Given the description of an element on the screen output the (x, y) to click on. 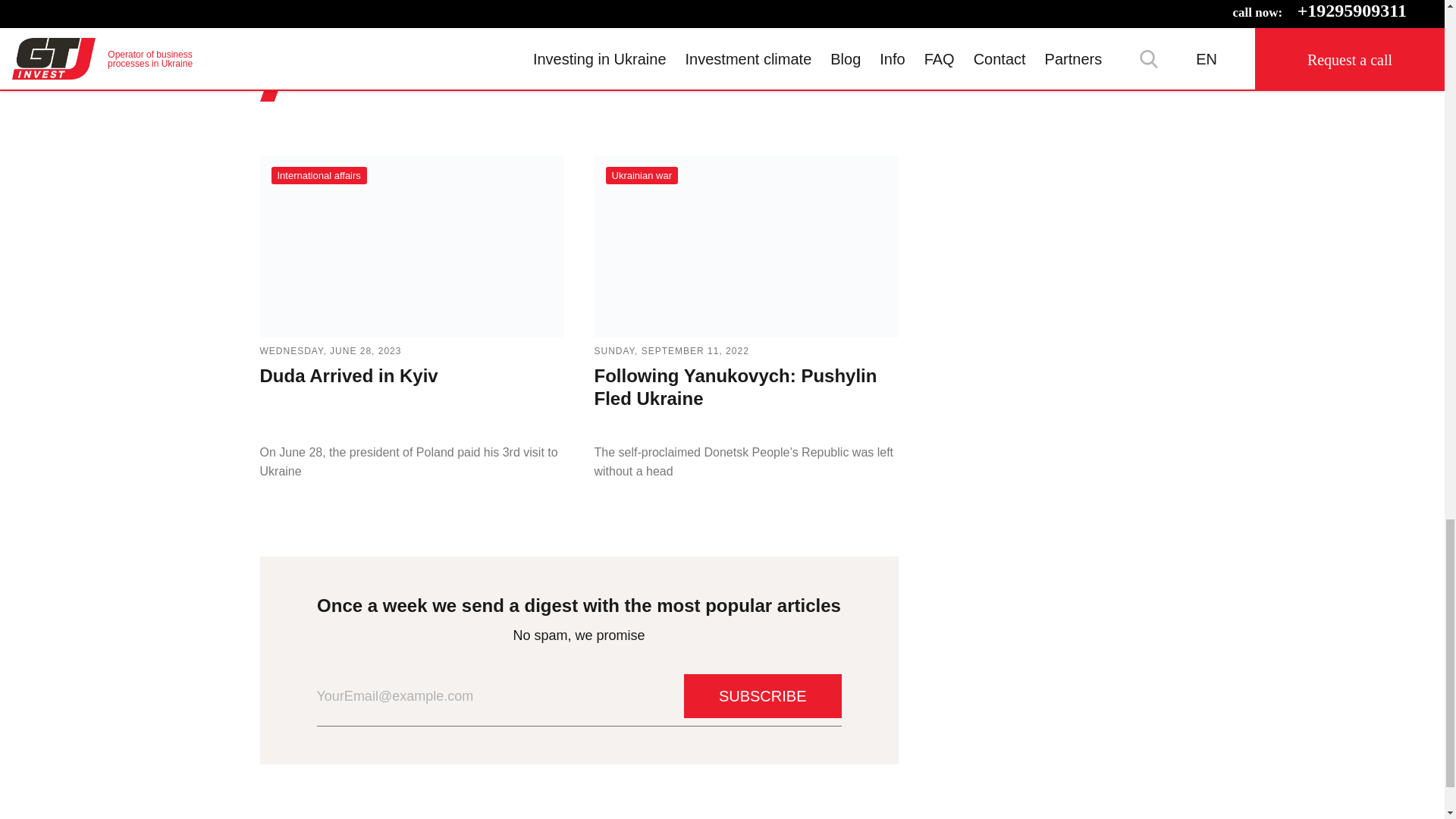
International affairs (318, 175)
Ukrainian war (641, 175)
